Given the description of an element on the screen output the (x, y) to click on. 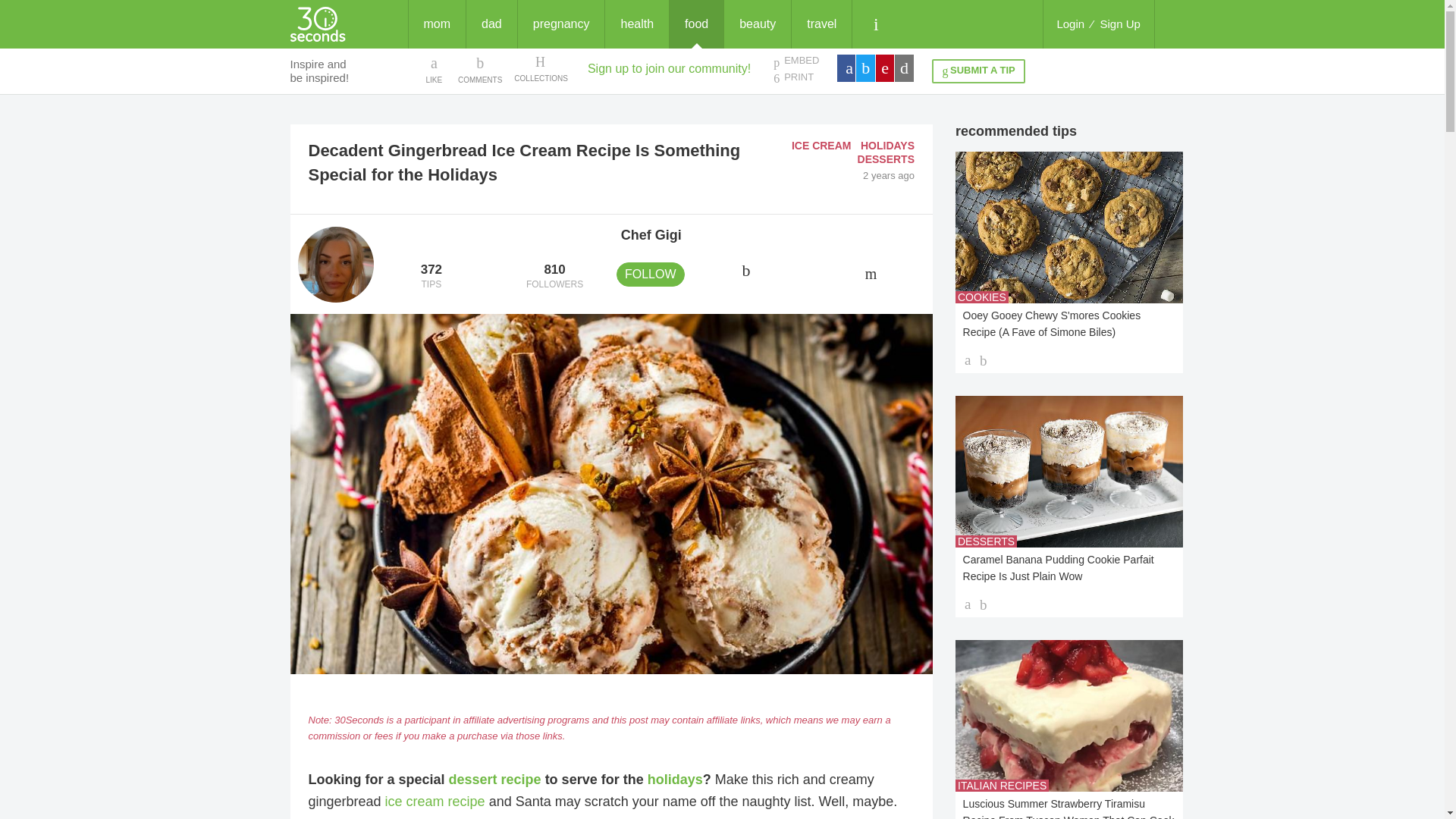
COMMENTS (480, 68)
COMMENTS (480, 68)
Sign Up (1120, 23)
food (696, 24)
SUBMIT A TIP (978, 70)
ICE CREAM (821, 145)
PRINT (795, 77)
dad (490, 24)
Chef Gigi (651, 235)
COLLECTIONS (540, 68)
